Given the description of an element on the screen output the (x, y) to click on. 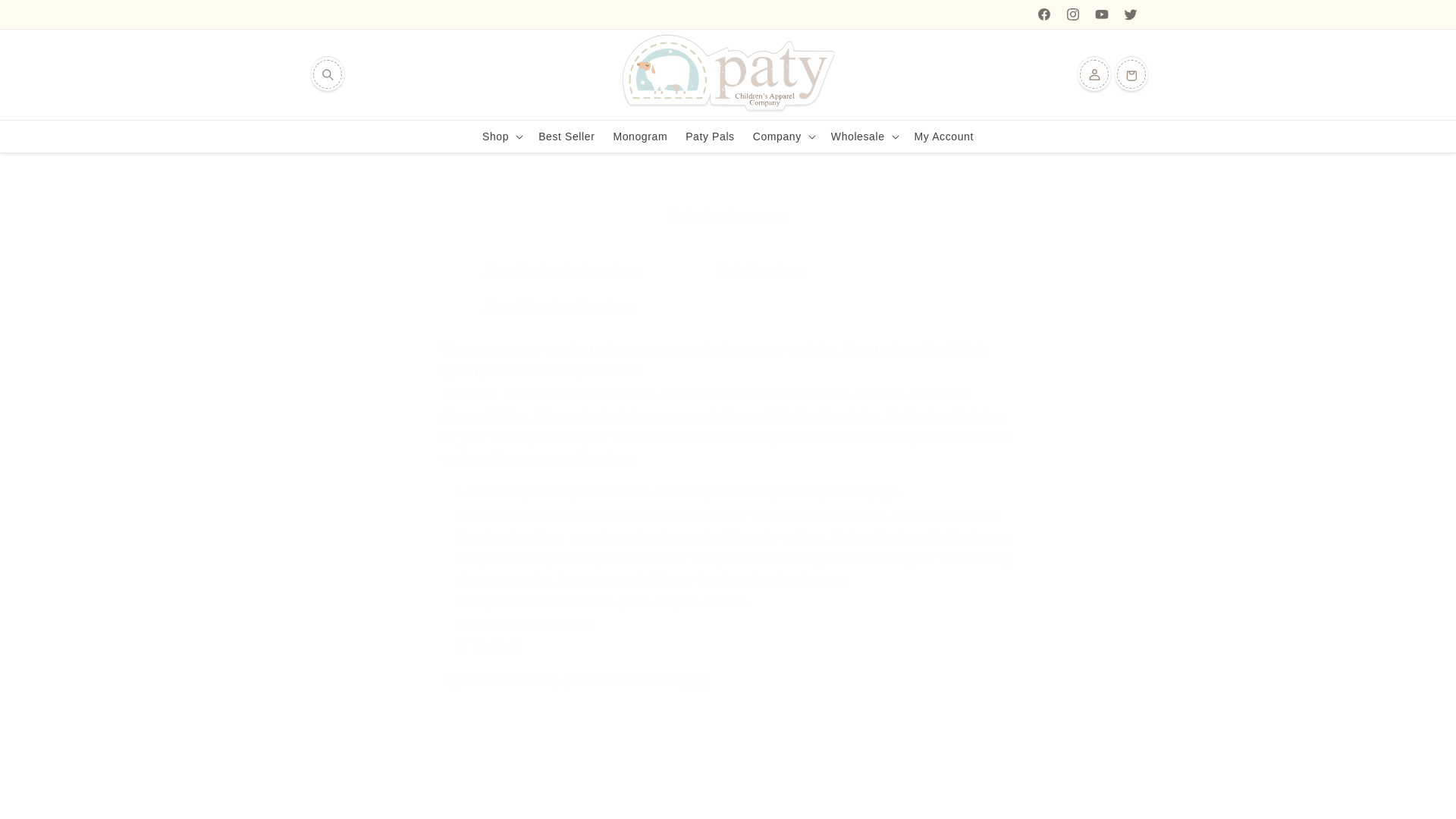
Twitter (1130, 14)
Instagram (1072, 14)
Facebook (1043, 14)
Skip to content (45, 17)
YouTube (1101, 14)
